Given the description of an element on the screen output the (x, y) to click on. 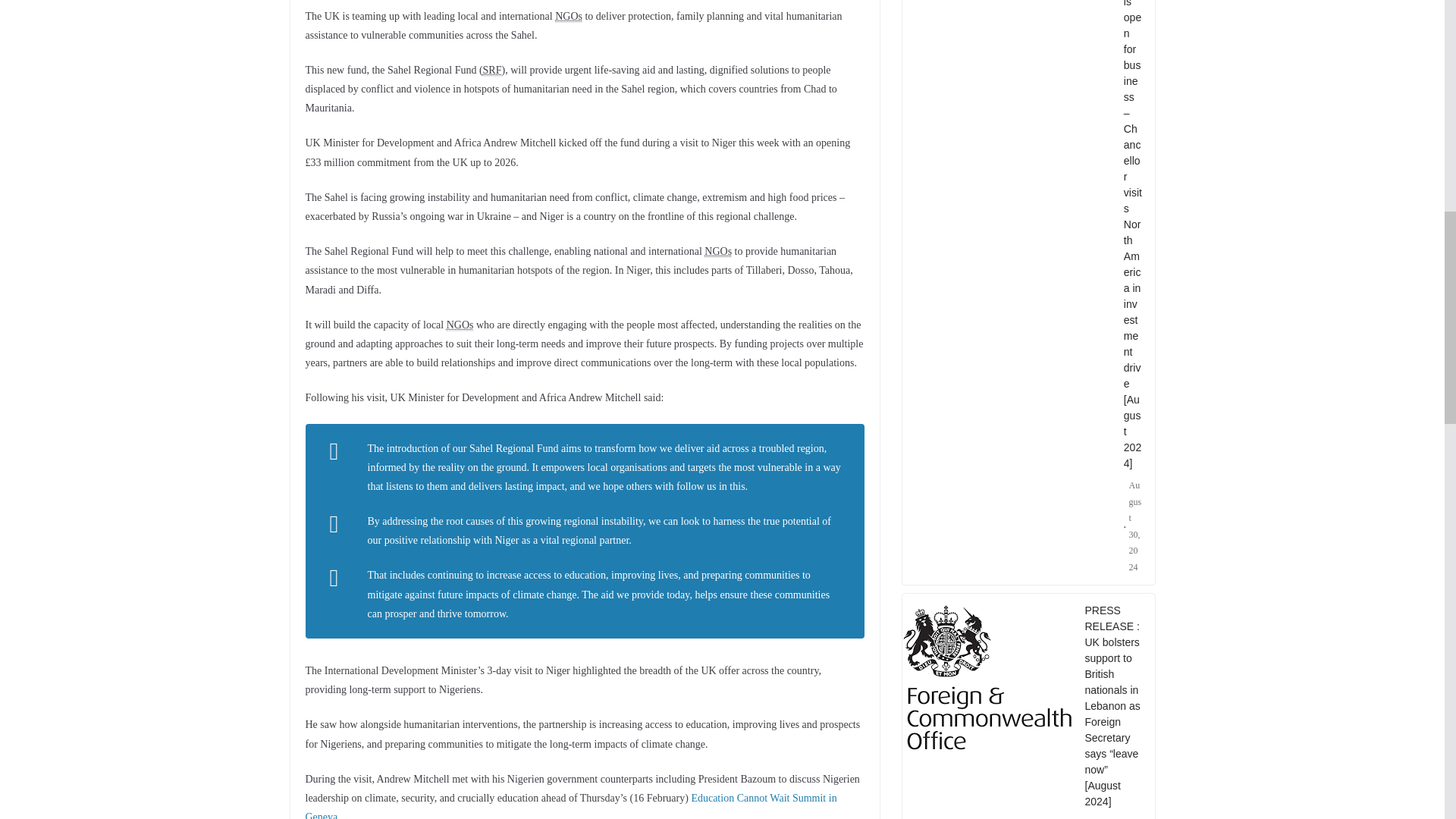
Sahel Regional Fund (492, 70)
Education Cannot Wait Summit in Geneva (569, 805)
Non-governmental organisations (568, 16)
Non-governmental organisations (718, 251)
